Given the description of an element on the screen output the (x, y) to click on. 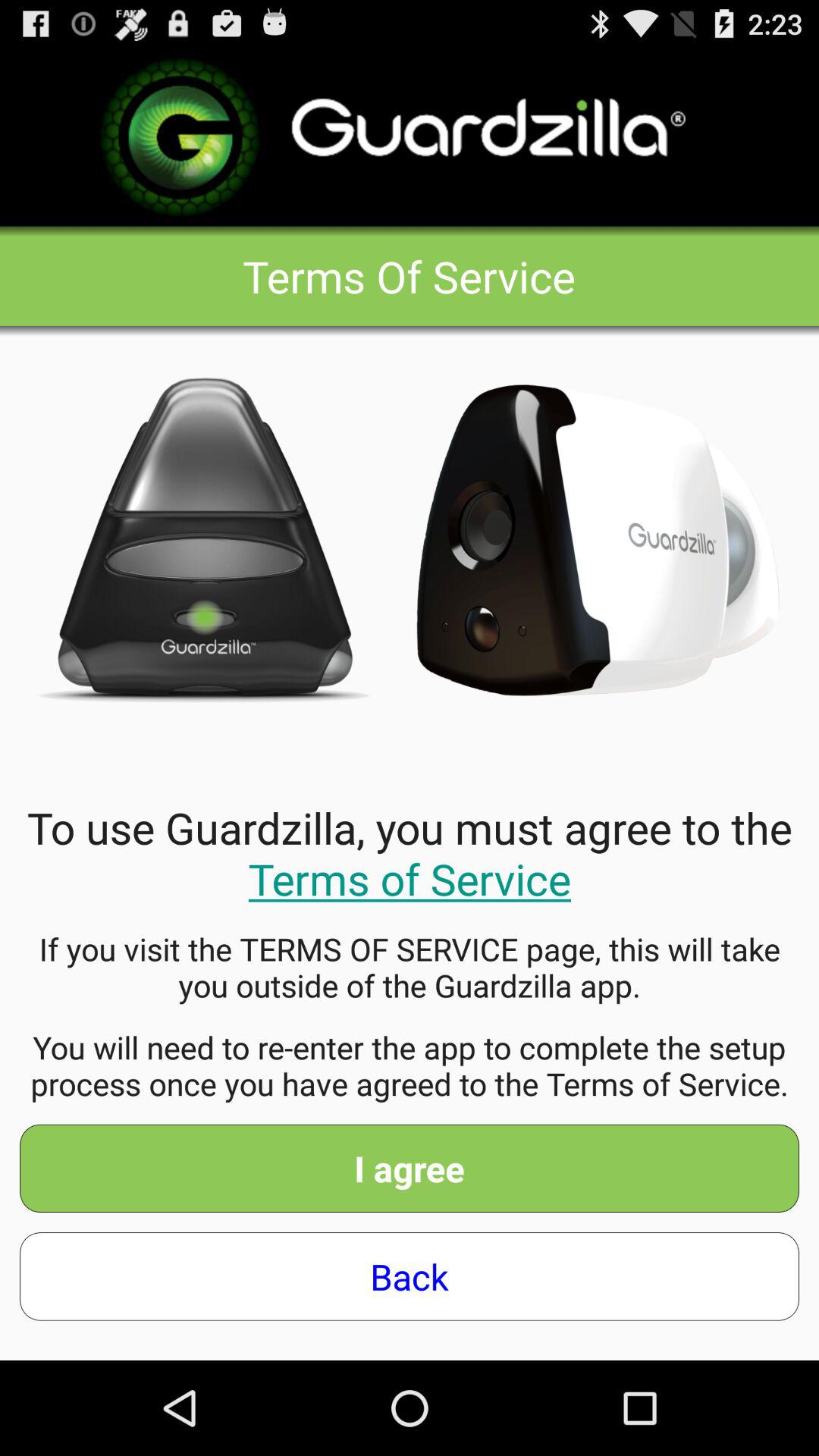
click item above the if you visit icon (409, 852)
